Given the description of an element on the screen output the (x, y) to click on. 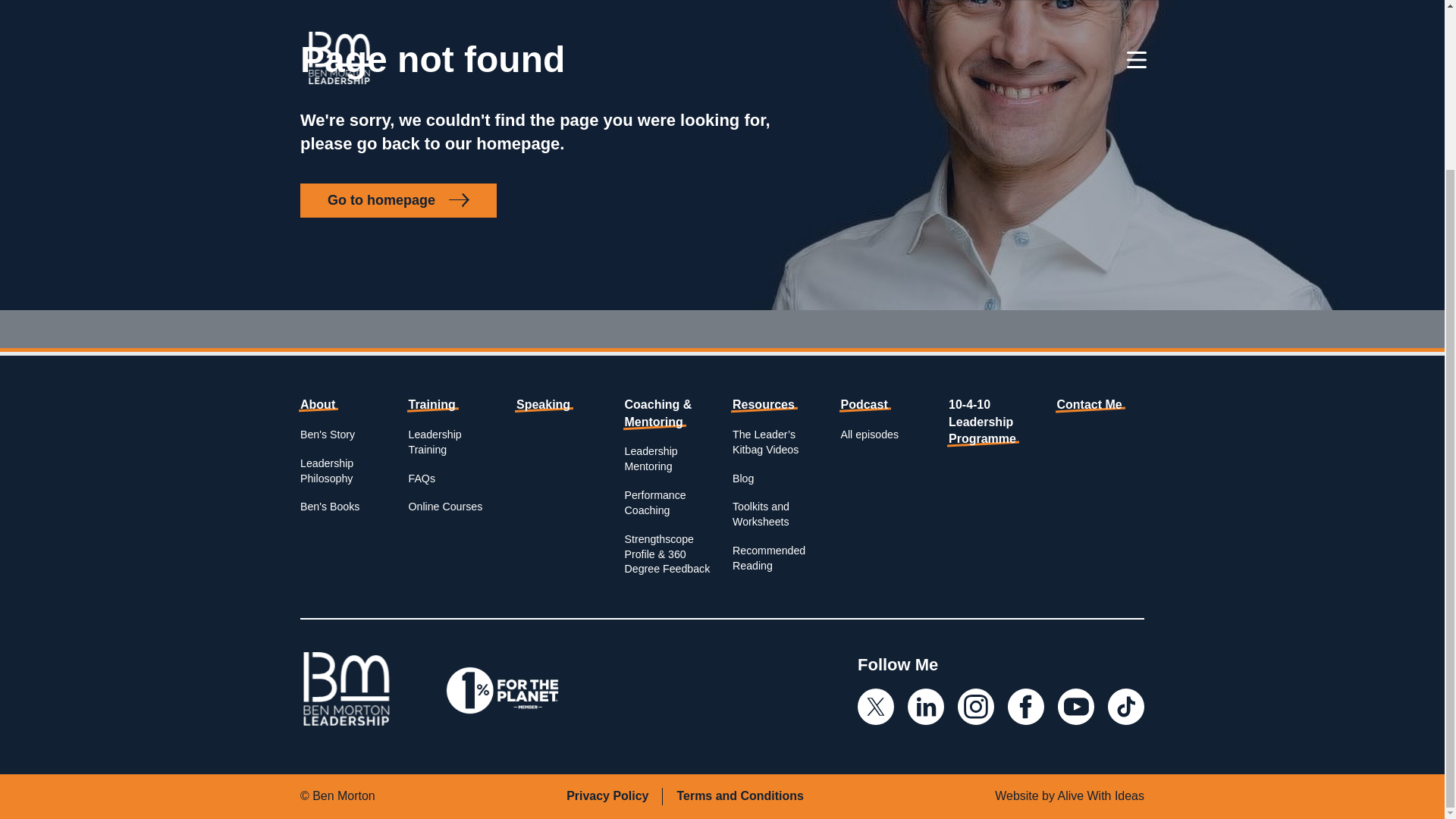
Speaking (543, 404)
Leadership Training (434, 441)
About (316, 404)
Go to homepage (397, 200)
FAQs (420, 477)
Ben's Books (329, 506)
Leadership Philosophy (326, 470)
Training (430, 404)
Ben's Story (327, 434)
Leadership Mentoring (651, 458)
